Given the description of an element on the screen output the (x, y) to click on. 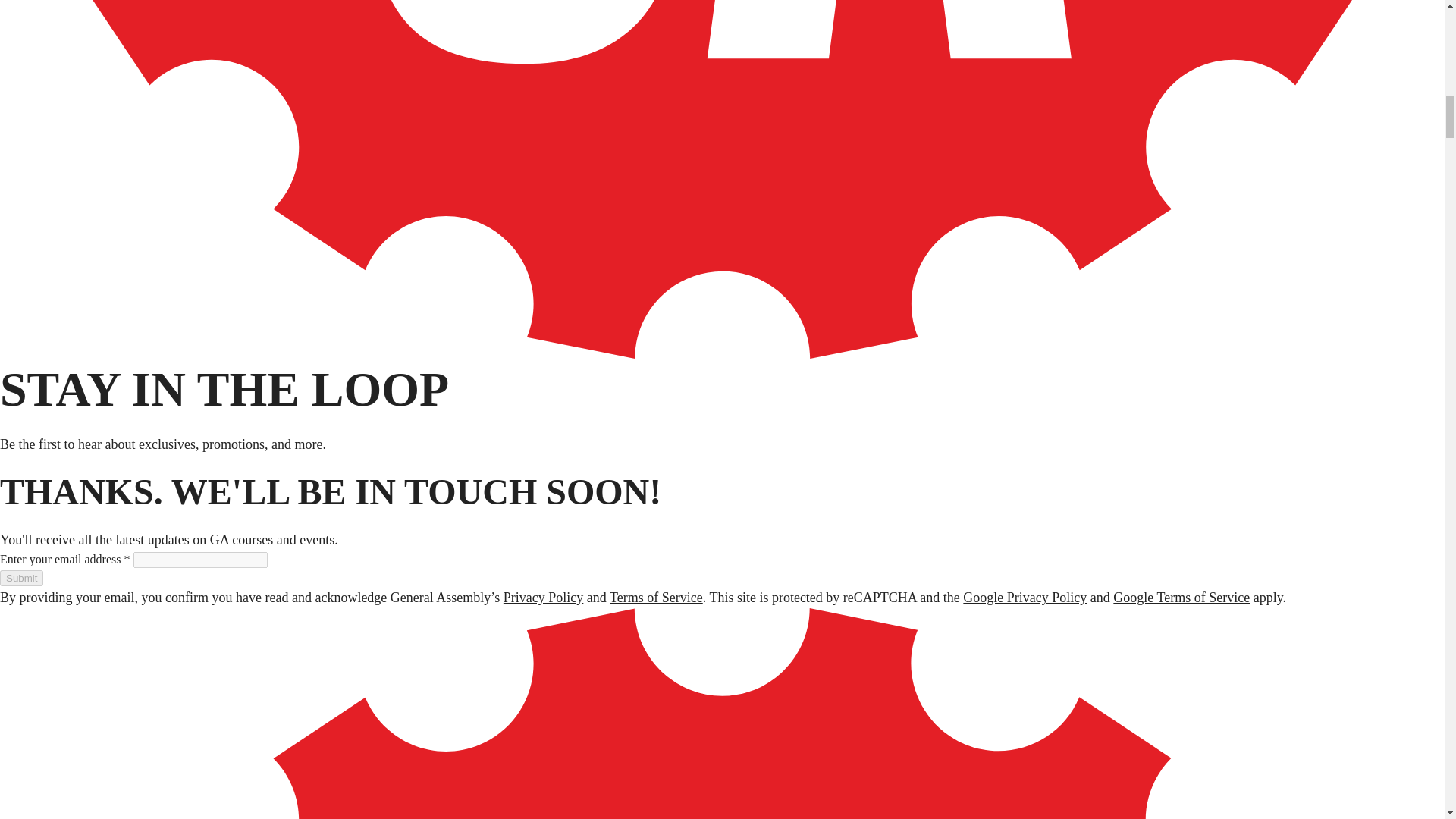
Terms of Service (656, 597)
Submit (21, 578)
Google Privacy Policy (1024, 597)
Privacy Policy (543, 597)
Submit (21, 578)
Google Terms of Service (1181, 597)
